Given the description of an element on the screen output the (x, y) to click on. 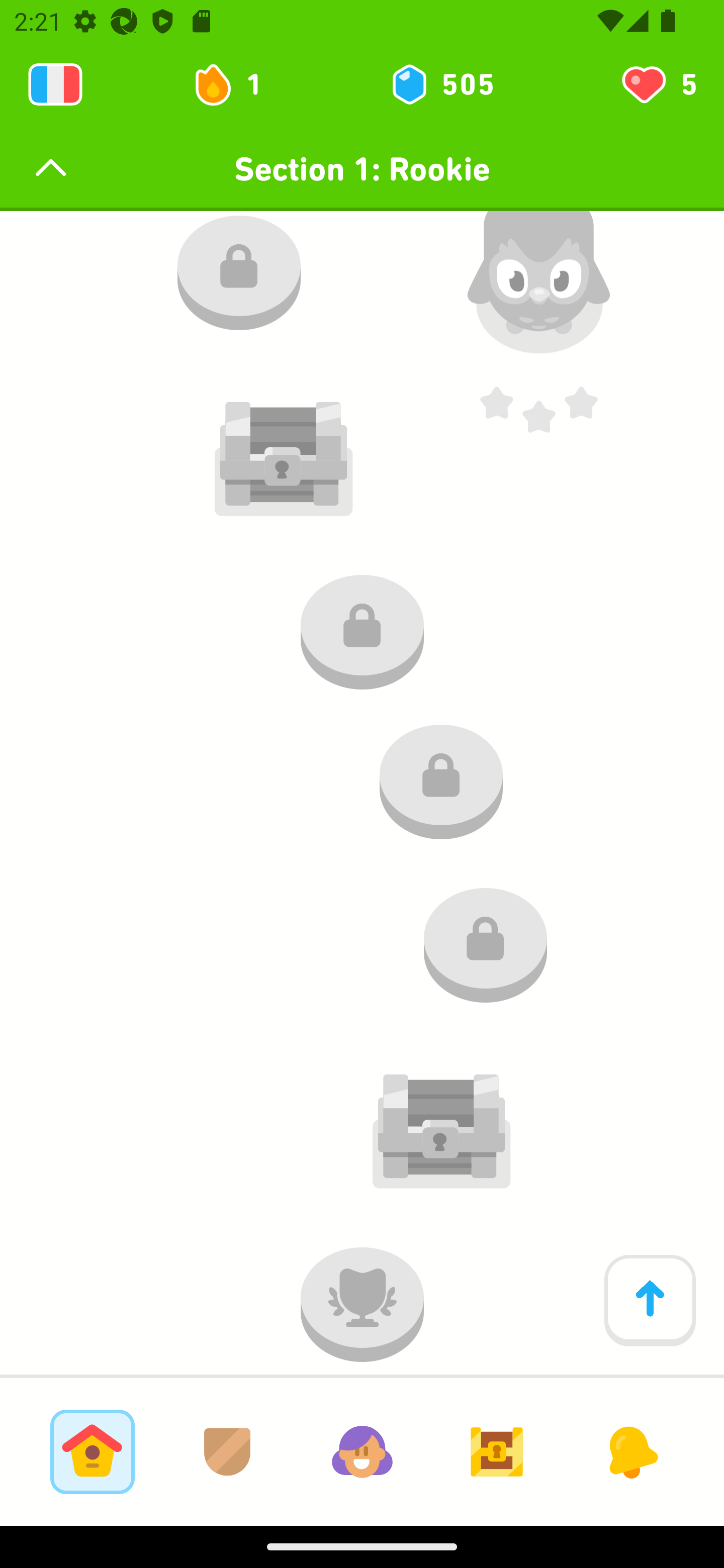
Learning 2131888976 (55, 84)
1 day streak 1 (236, 84)
505 (441, 84)
You have 5 hearts left 5 (657, 84)
Section 1: Rookie (362, 169)
Learn Tab (91, 1451)
Leagues Tab (227, 1451)
Profile Tab (361, 1451)
Goals Tab (496, 1451)
News Tab (631, 1451)
